Given the description of an element on the screen output the (x, y) to click on. 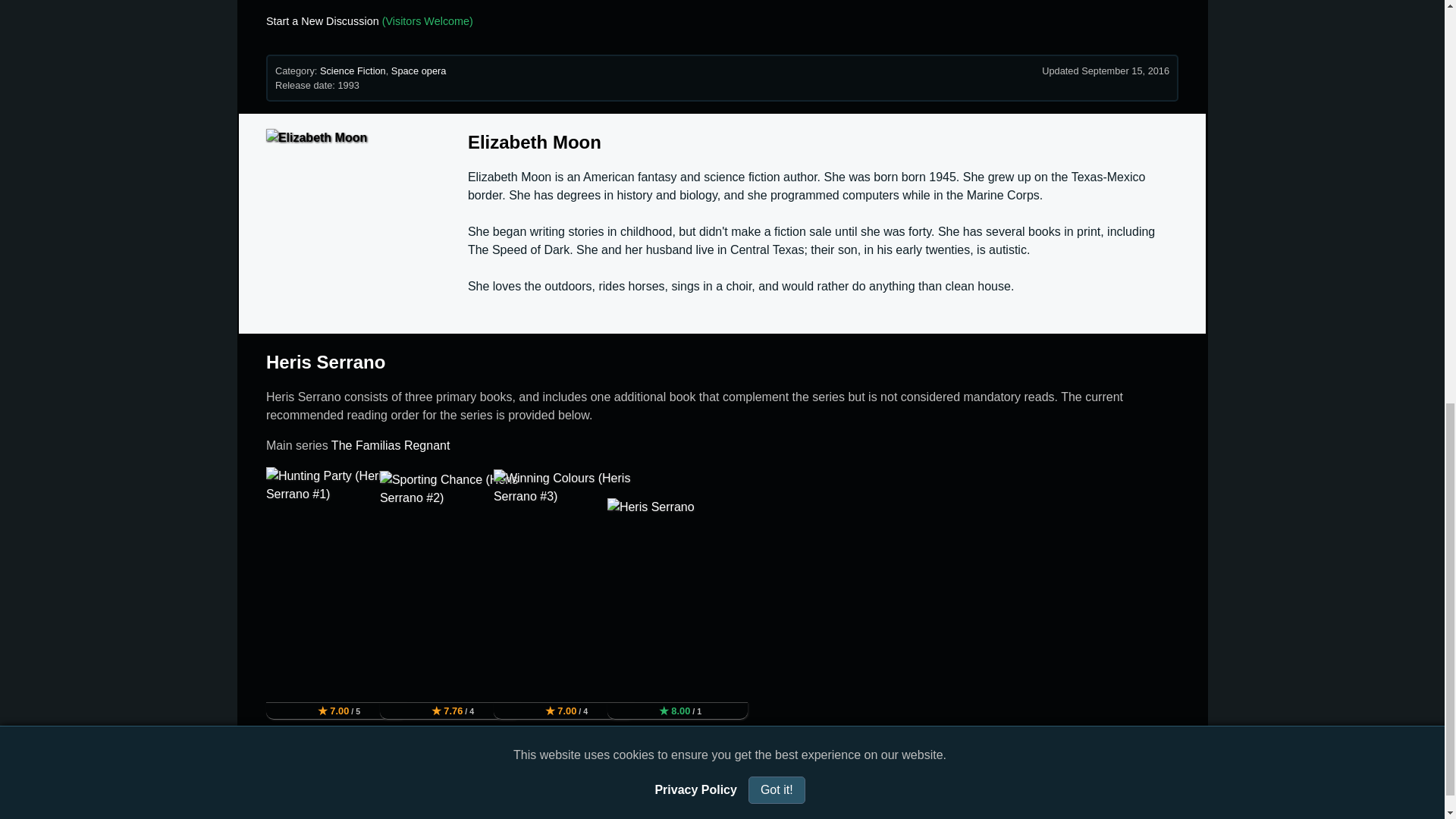
The Familias Regnant (390, 445)
Science Fiction (352, 70)
Heris Serrano (325, 362)
Elizabeth Moon (534, 141)
Space opera (418, 70)
